Given the description of an element on the screen output the (x, y) to click on. 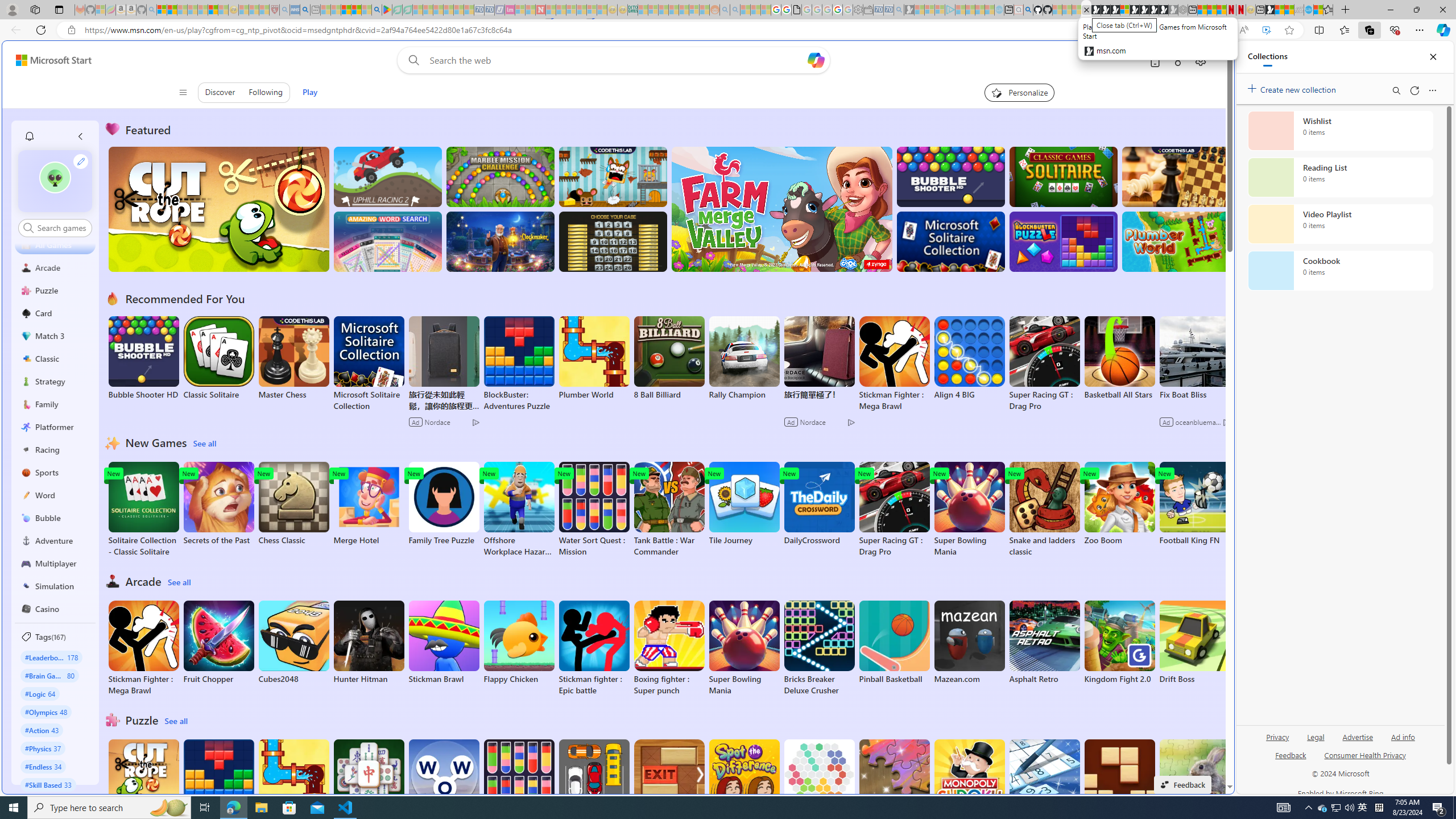
Up Hill Racing 2 (387, 176)
Asphalt Retro (1044, 642)
Stickman Fighter : Mega Brawl (143, 648)
Align 4 BIG (968, 358)
